Given the description of an element on the screen output the (x, y) to click on. 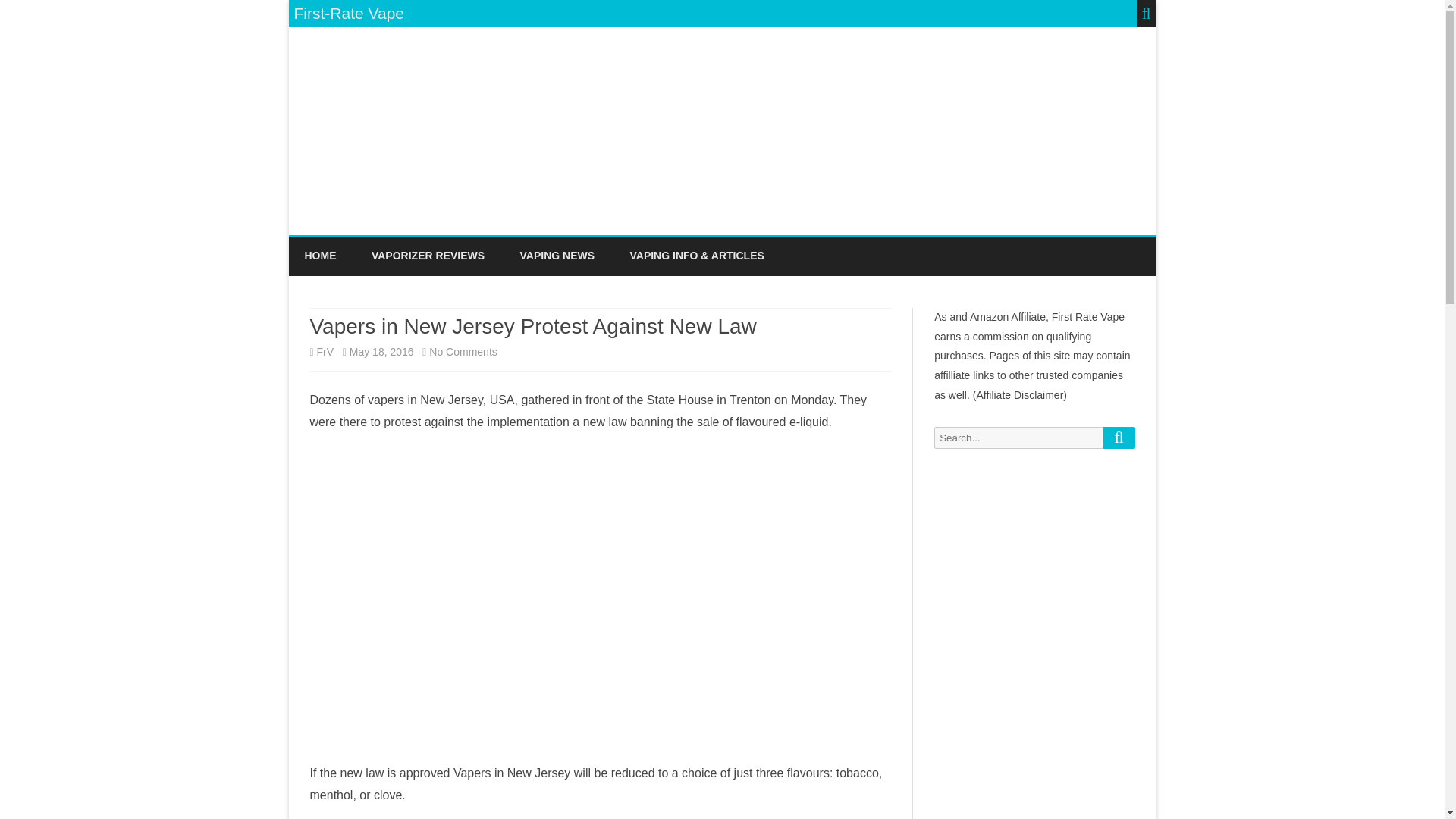
VAPING NEWS (557, 256)
FrV (325, 351)
Search for: (1018, 437)
Search (462, 351)
Skip to content (1118, 437)
